Given the description of an element on the screen output the (x, y) to click on. 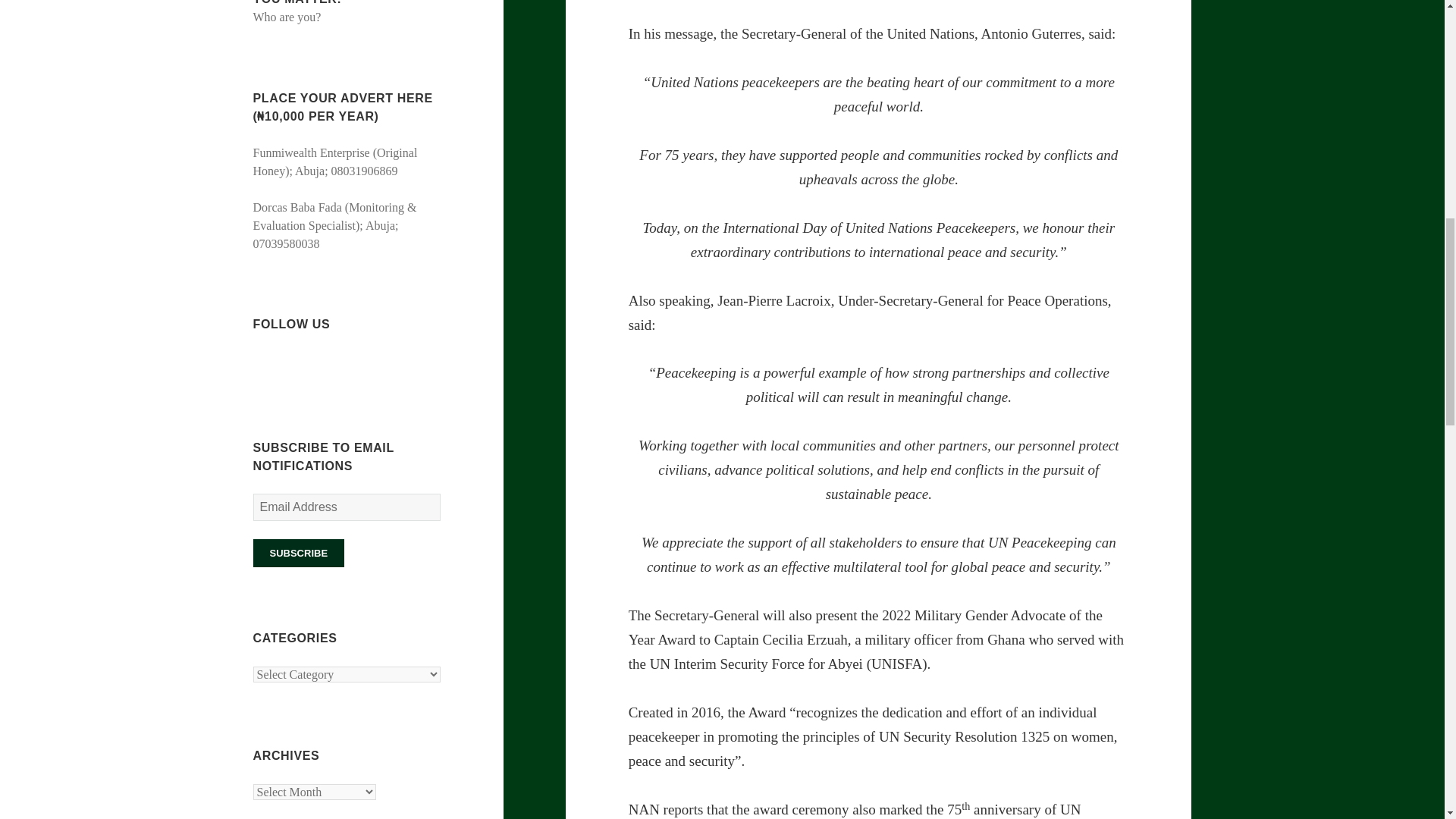
YouTube (346, 363)
SUBSCRIBE (299, 552)
Twitter (292, 363)
Facebook (265, 363)
Instagram (319, 363)
